Given the description of an element on the screen output the (x, y) to click on. 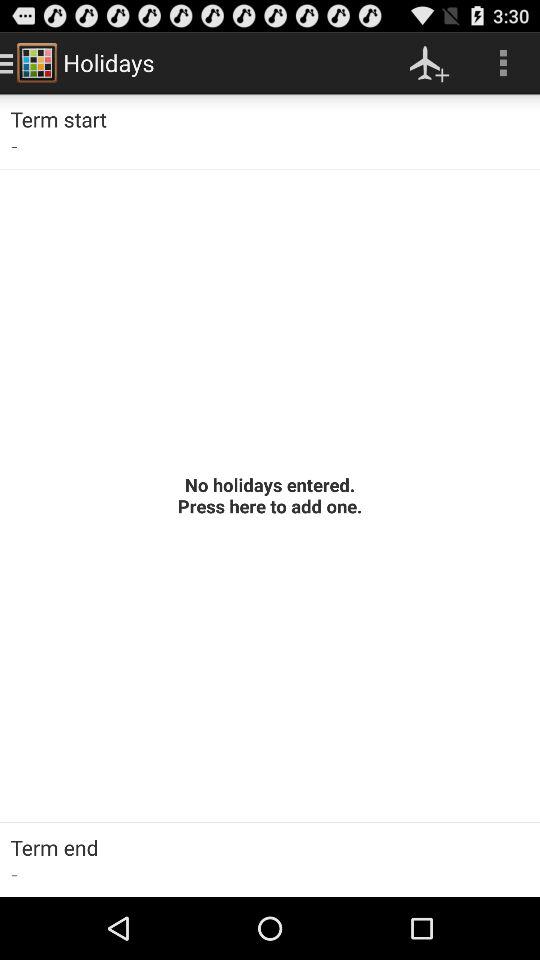
click app above no holidays entered (429, 62)
